Given the description of an element on the screen output the (x, y) to click on. 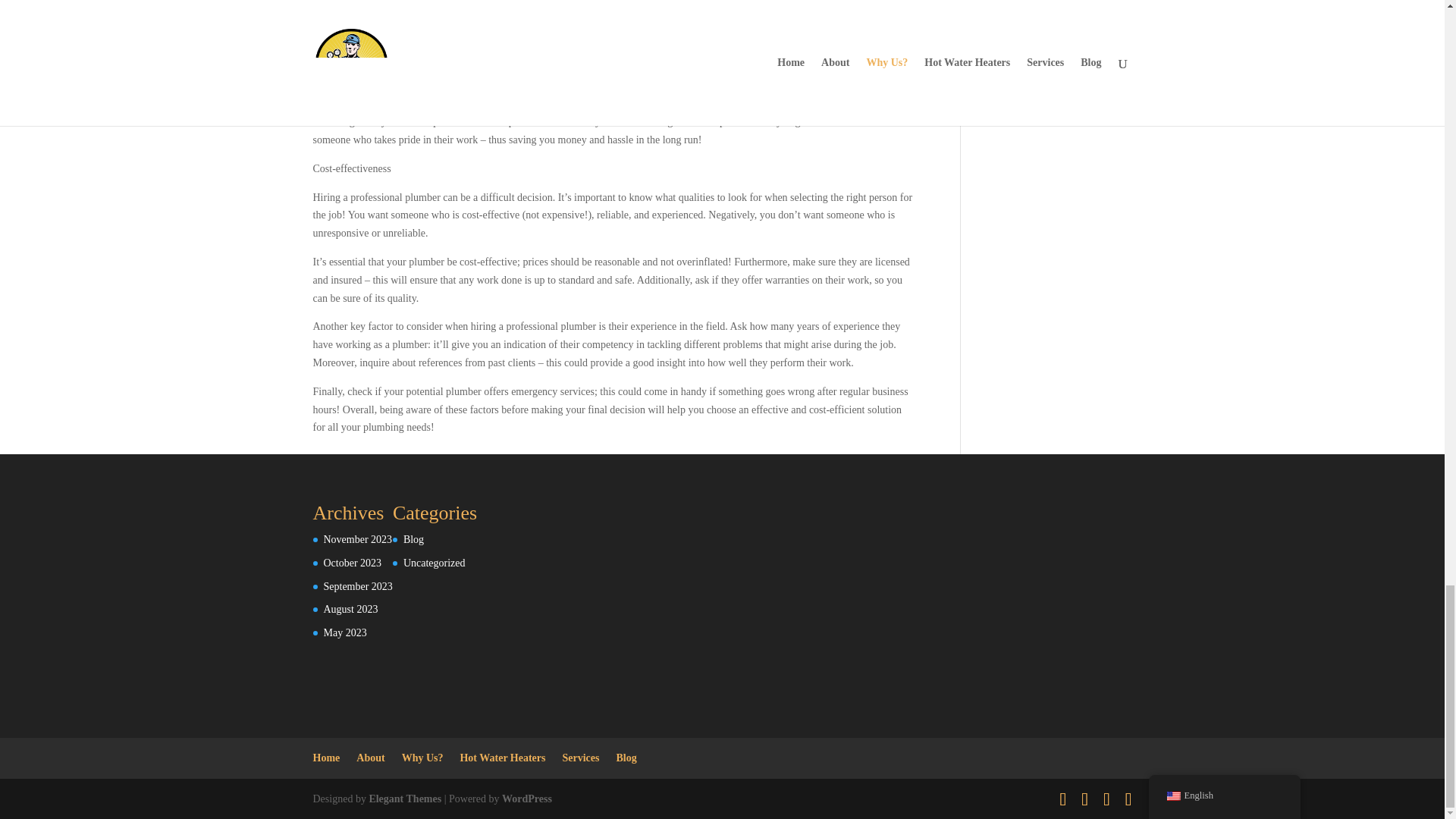
About (370, 757)
September 2023 (357, 586)
WordPress (526, 798)
Services (580, 757)
Blog (625, 757)
August 2023 (350, 609)
Blog (413, 539)
Elegant Themes (404, 798)
Uncategorized (434, 562)
May 2023 (344, 632)
